Given the description of an element on the screen output the (x, y) to click on. 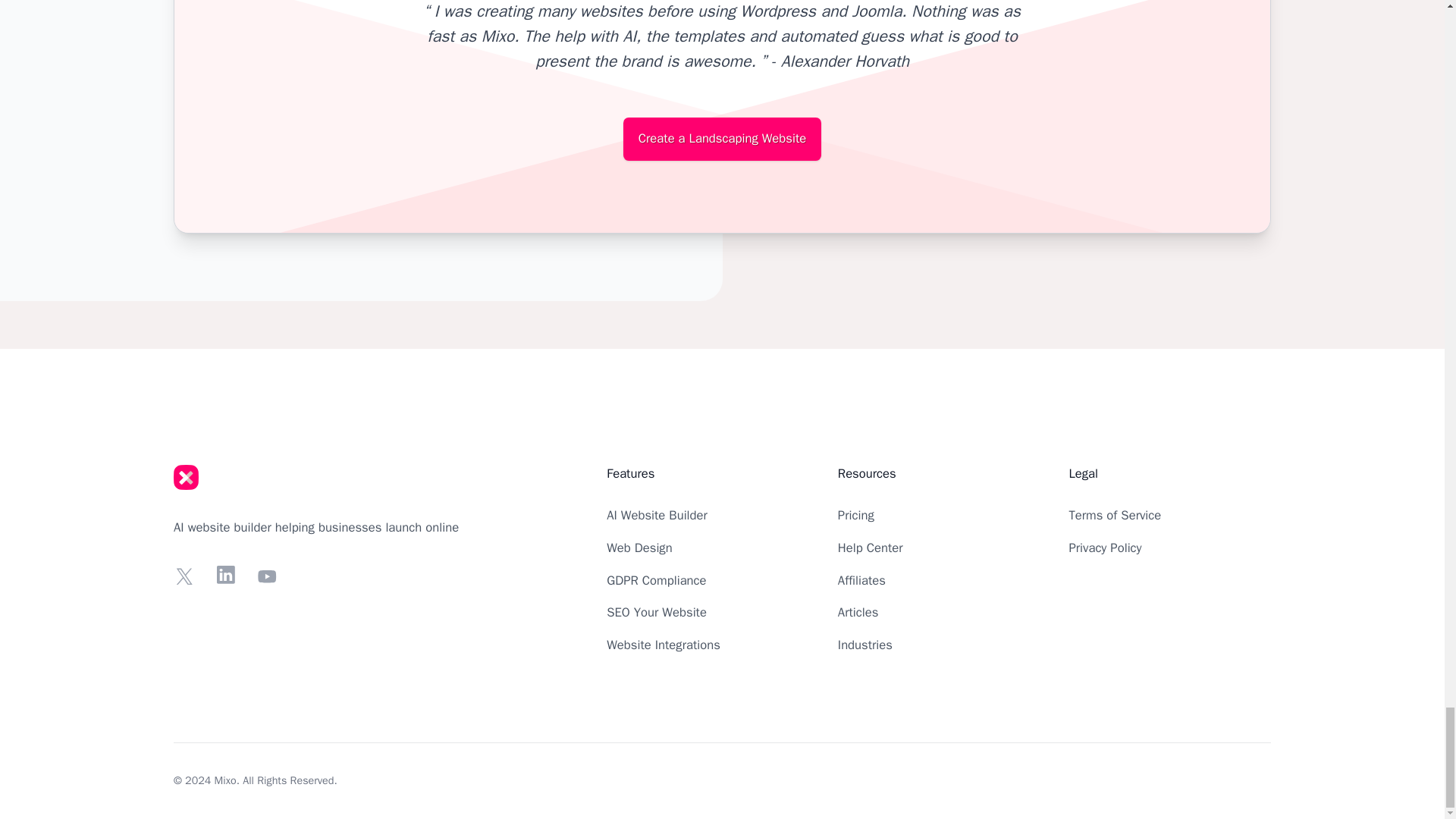
SEO Your Website (656, 611)
GDPR Compliance (656, 580)
YouTube (267, 576)
Articles (858, 611)
Create a Landscaping Website (722, 138)
AI Website Builder (657, 514)
X (184, 576)
Website Integrations (663, 644)
Pricing (856, 514)
Features (630, 473)
